Given the description of an element on the screen output the (x, y) to click on. 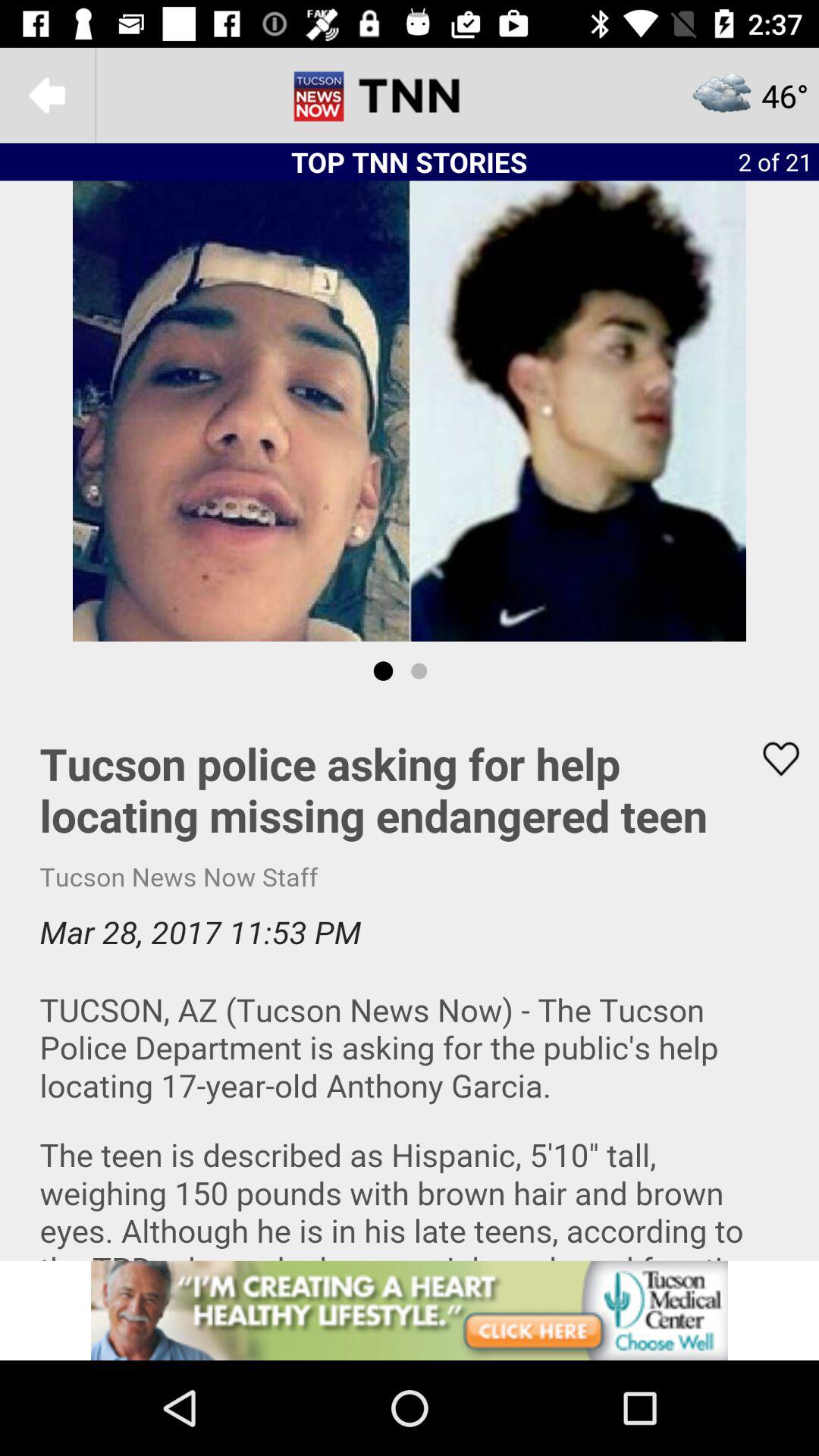
add to favorites (771, 758)
